Given the description of an element on the screen output the (x, y) to click on. 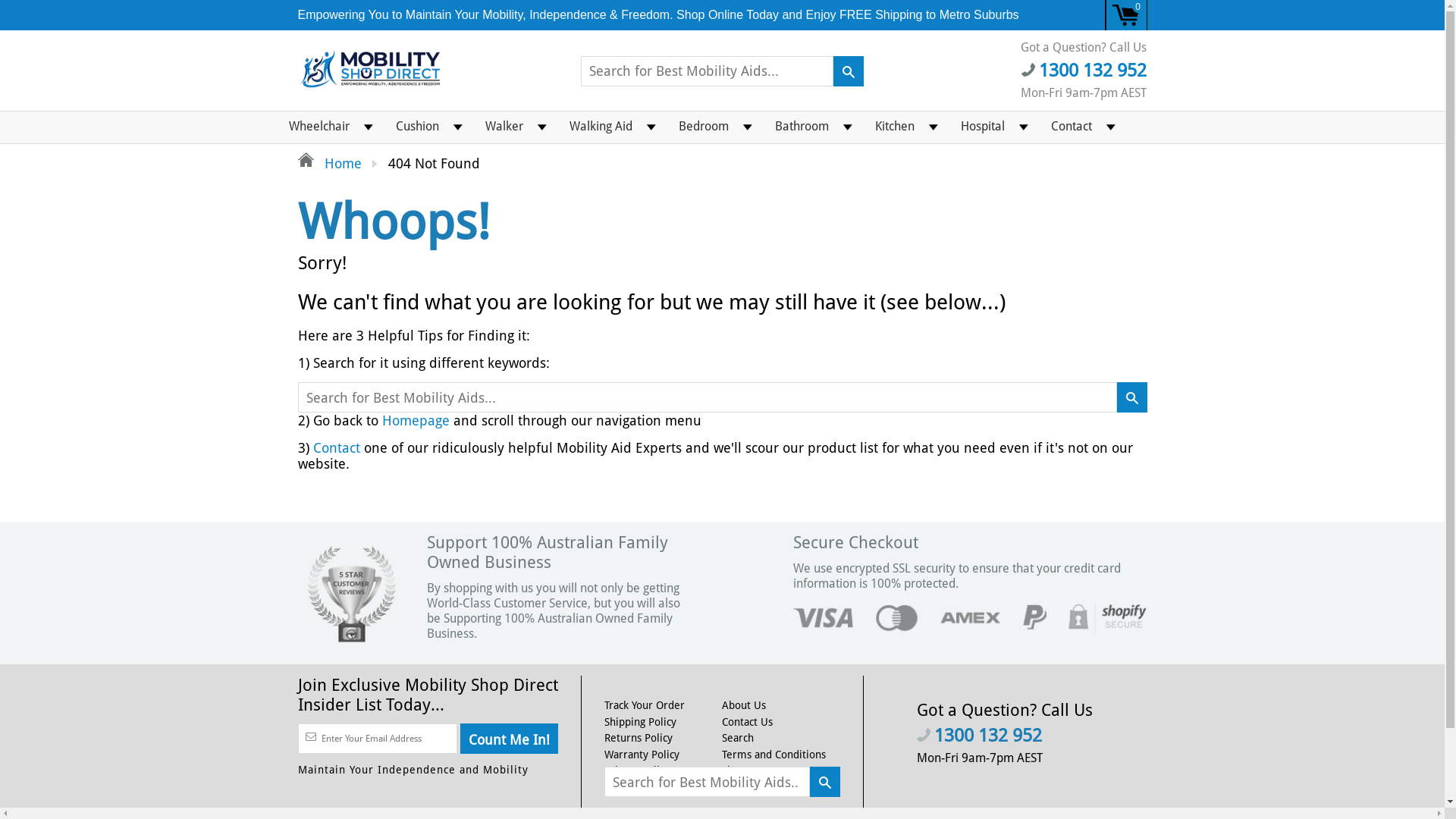
 Home Element type: text (328, 163)
Contact Element type: text (335, 447)
Count Me In! Element type: text (509, 738)
Cushion Element type: text (416, 122)
Secure Online Shopping Element type: text (661, 787)
Kitchen Element type: text (894, 122)
Warranty Policy Element type: text (641, 754)
Walker Element type: text (503, 122)
Contact Us Element type: text (746, 721)
Site Map Element type: text (742, 770)
Wheelchair Element type: text (318, 122)
Shipping Policy Element type: text (640, 721)
Returns Policy Element type: text (638, 737)
Bedroom Element type: text (703, 122)
Homepage Element type: text (415, 420)
Bathroom Element type: text (800, 122)
0 Element type: text (1126, 15)
Contact Element type: text (1070, 122)
Track Your Order Element type: text (644, 705)
Blog Element type: text (732, 787)
About Us Element type: text (743, 705)
Search Element type: text (737, 737)
Privacy Policy Element type: text (636, 770)
Walking Aid Element type: text (600, 122)
Terms and Conditions Element type: text (773, 754)
Hospital Element type: text (982, 122)
